Given the description of an element on the screen output the (x, y) to click on. 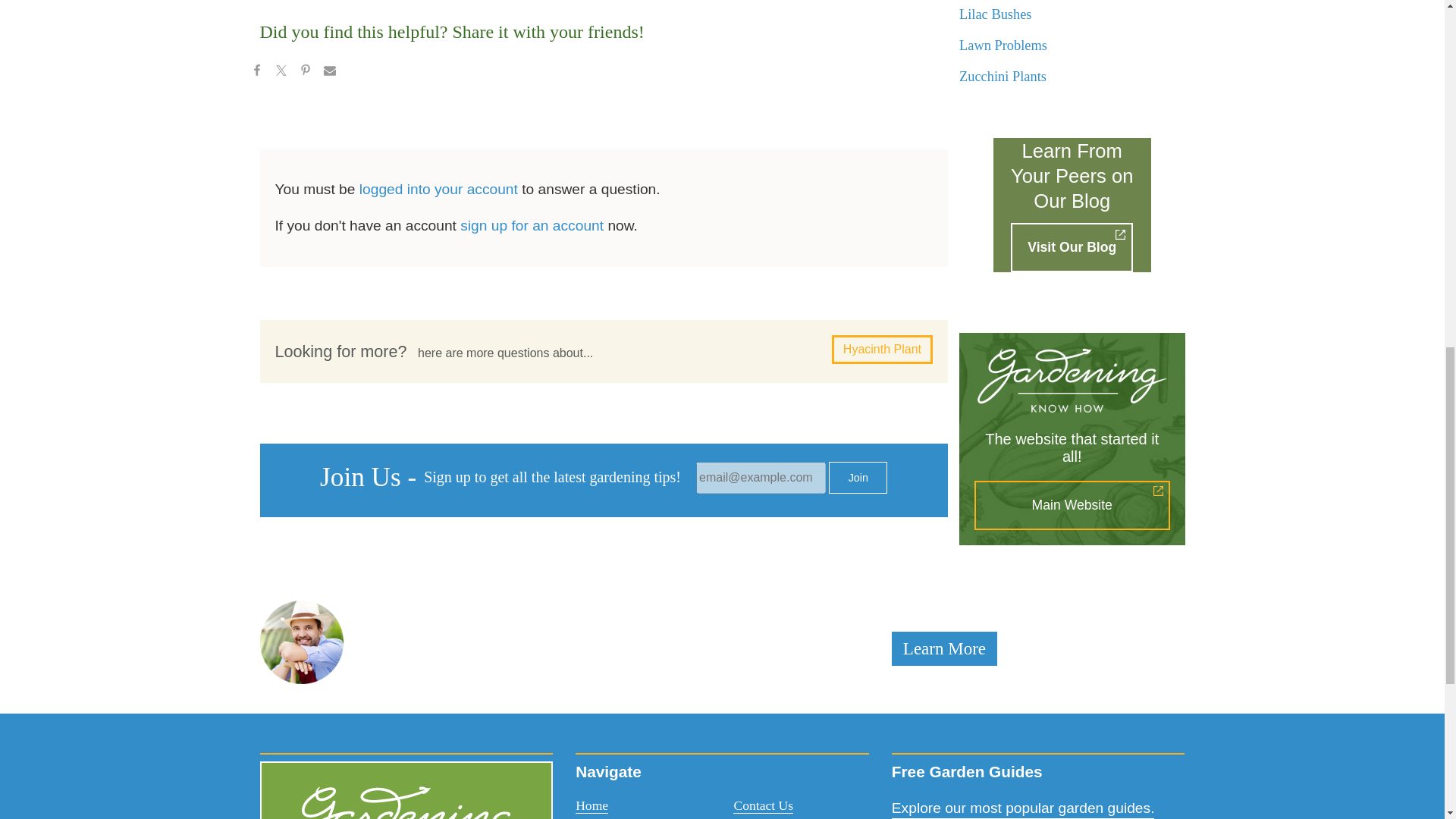
Share on Pinterest (304, 72)
logged into your account (438, 188)
Join (857, 477)
Share on Twitter (279, 72)
sign up for an account (532, 225)
Share on Facebook (255, 72)
Hyacinth Plant (882, 348)
Share via Email (328, 72)
